Given the description of an element on the screen output the (x, y) to click on. 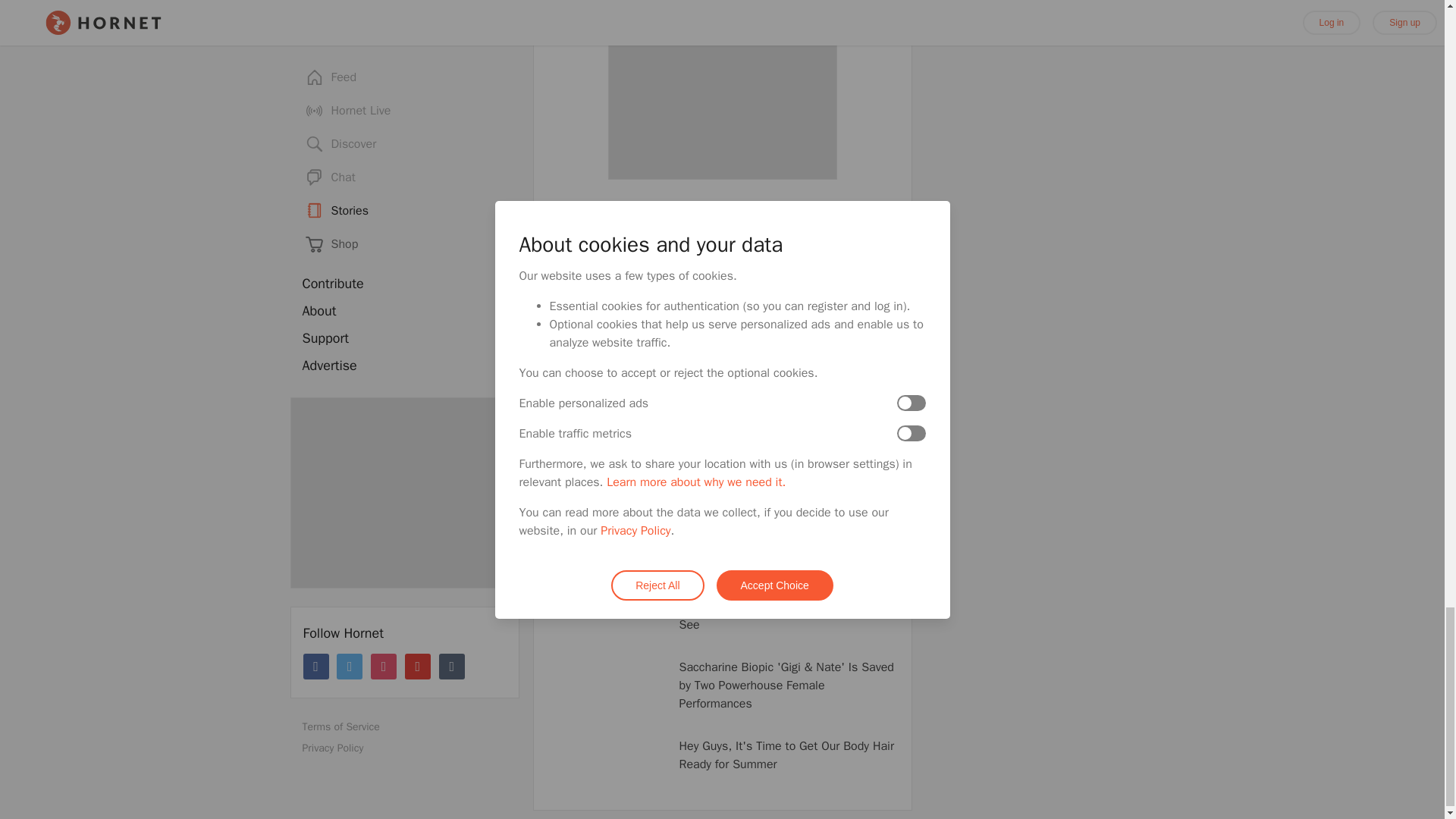
Tweet (614, 403)
Post (566, 403)
Share (664, 403)
Instagram account (752, 373)
